Given the description of an element on the screen output the (x, y) to click on. 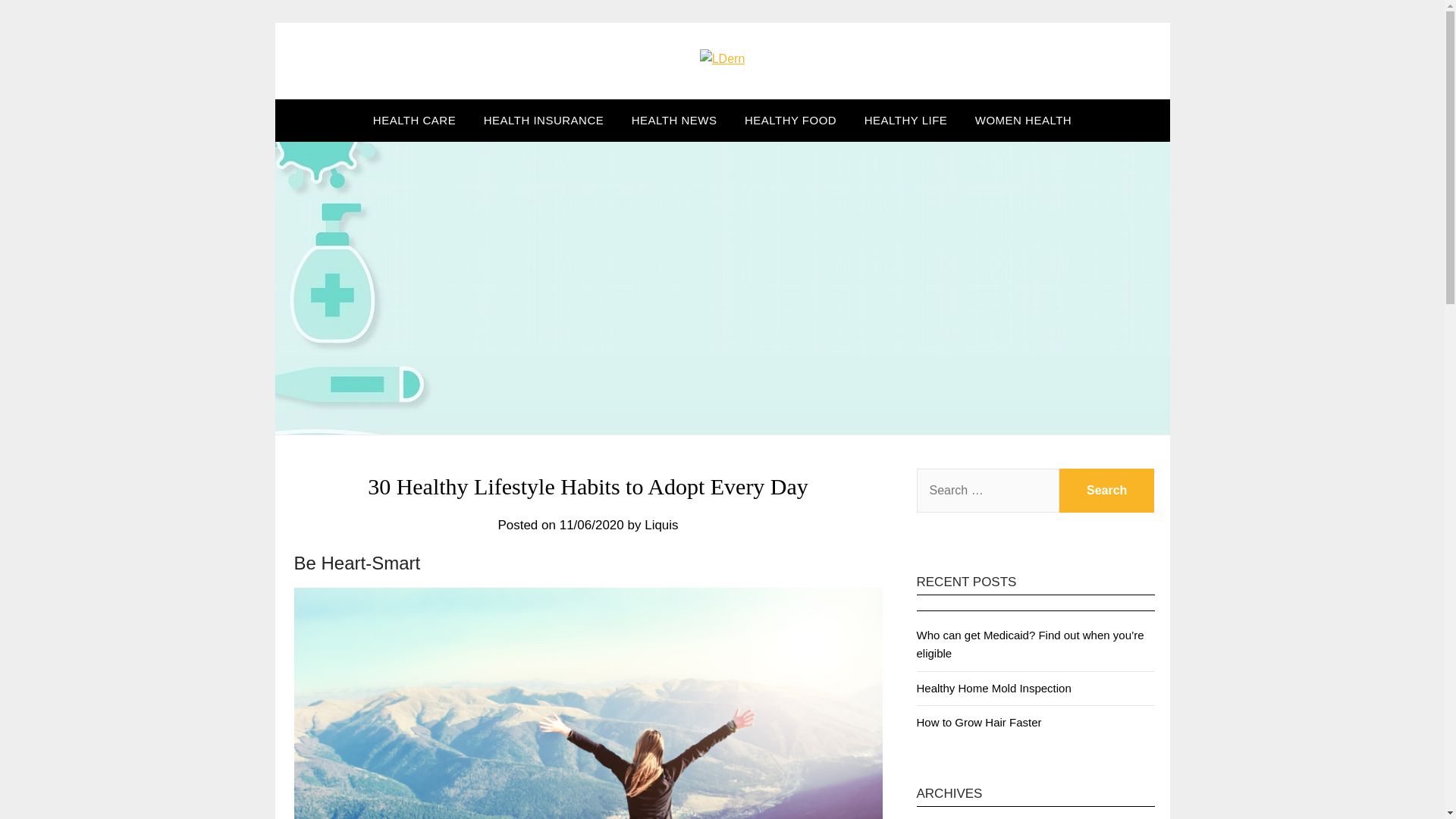
Liquis (661, 524)
Healthy Home Mold Inspection (992, 687)
HEALTHY LIFE (905, 119)
How to Grow Hair Faster (978, 721)
Search (1106, 490)
HEALTHY FOOD (790, 119)
Search (1106, 490)
HEALTH NEWS (674, 119)
HEALTH INSURANCE (543, 119)
HEALTH CARE (414, 119)
